Given the description of an element on the screen output the (x, y) to click on. 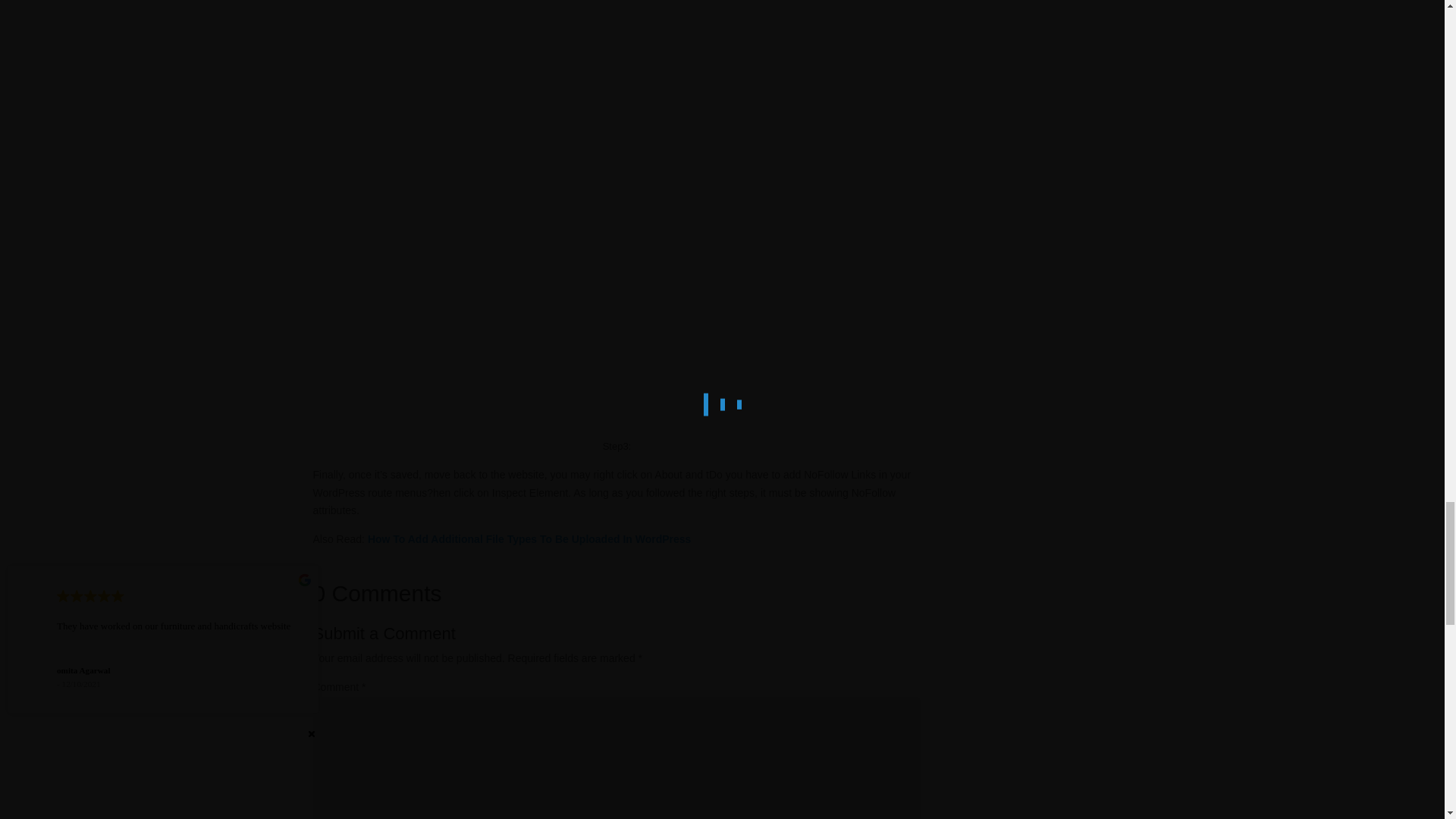
How To Add Additional File Types To Be Uploaded In WordPress (527, 539)
